Given the description of an element on the screen output the (x, y) to click on. 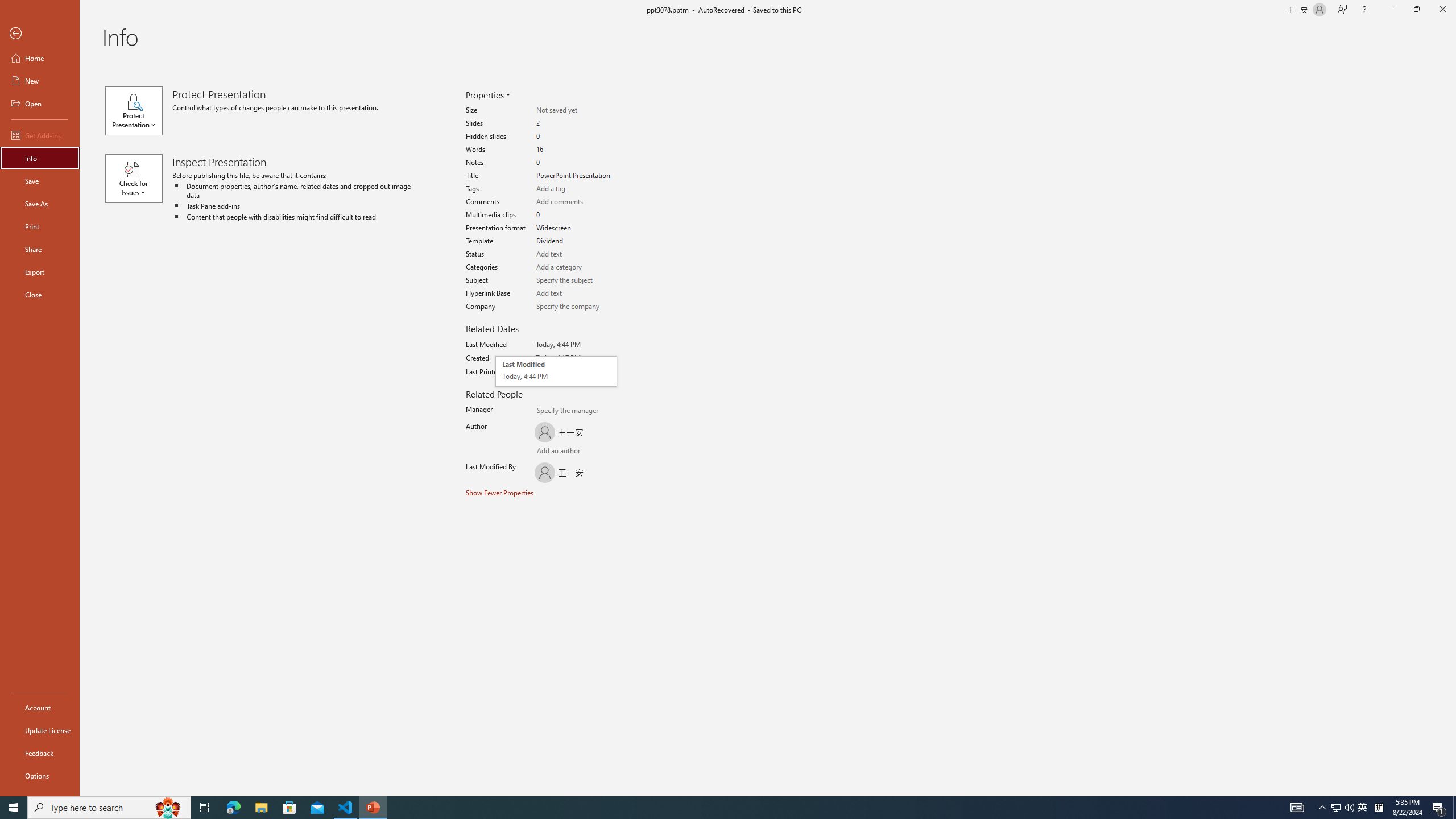
Tags (575, 188)
Slides (575, 123)
Back (40, 33)
New (40, 80)
Company (575, 306)
Hyperlink Base (575, 293)
Presentation format (575, 227)
Export (40, 271)
Properties (486, 94)
